Given the description of an element on the screen output the (x, y) to click on. 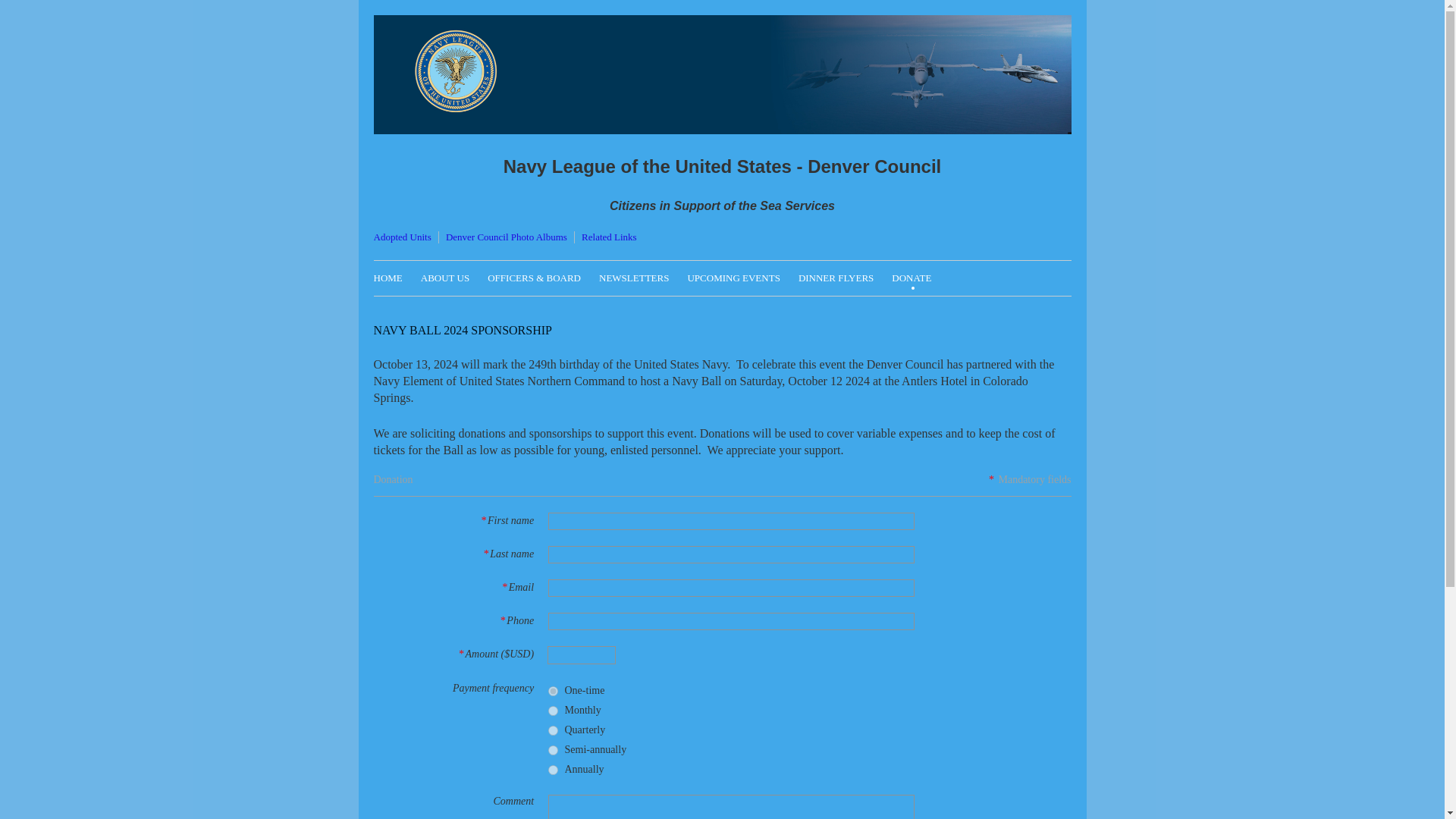
listItem814215720 (552, 769)
Upcoming Events (742, 276)
Dinner Flyers (844, 276)
UPCOMING EVENTS (742, 276)
listItem214215720 (552, 730)
HOME (396, 276)
Denver Council Photo Albums (506, 237)
listItem114215720 (552, 710)
Adopted Units (401, 237)
listItem014215720 (552, 691)
